Given the description of an element on the screen output the (x, y) to click on. 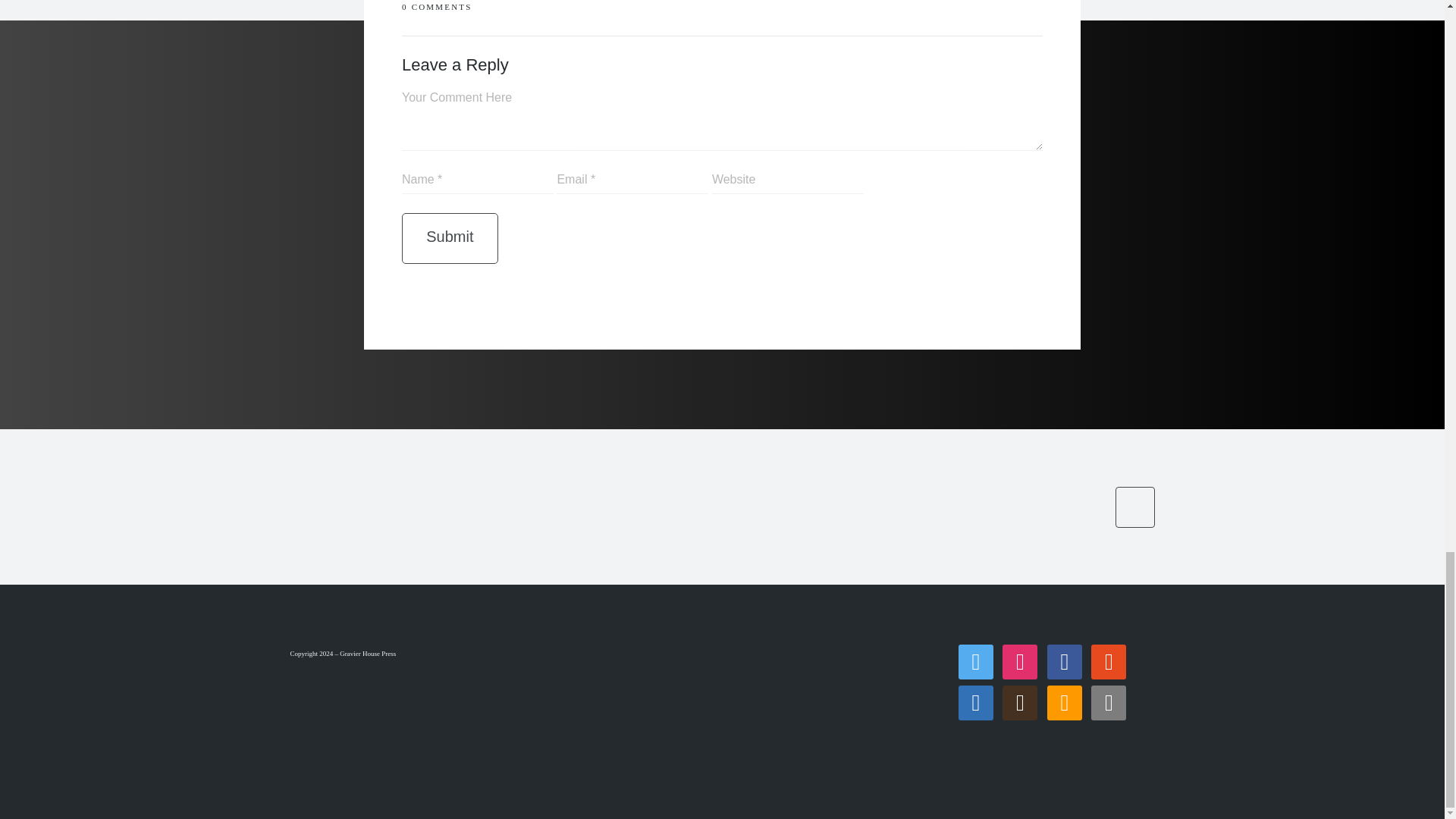
Submit (449, 238)
Default Label (1107, 702)
Facebook (1063, 661)
Default Label (1063, 702)
Twitter (975, 661)
Default Label (1107, 661)
Instagram (1019, 661)
Default Label (1019, 702)
Default Label (975, 702)
